Given the description of an element on the screen output the (x, y) to click on. 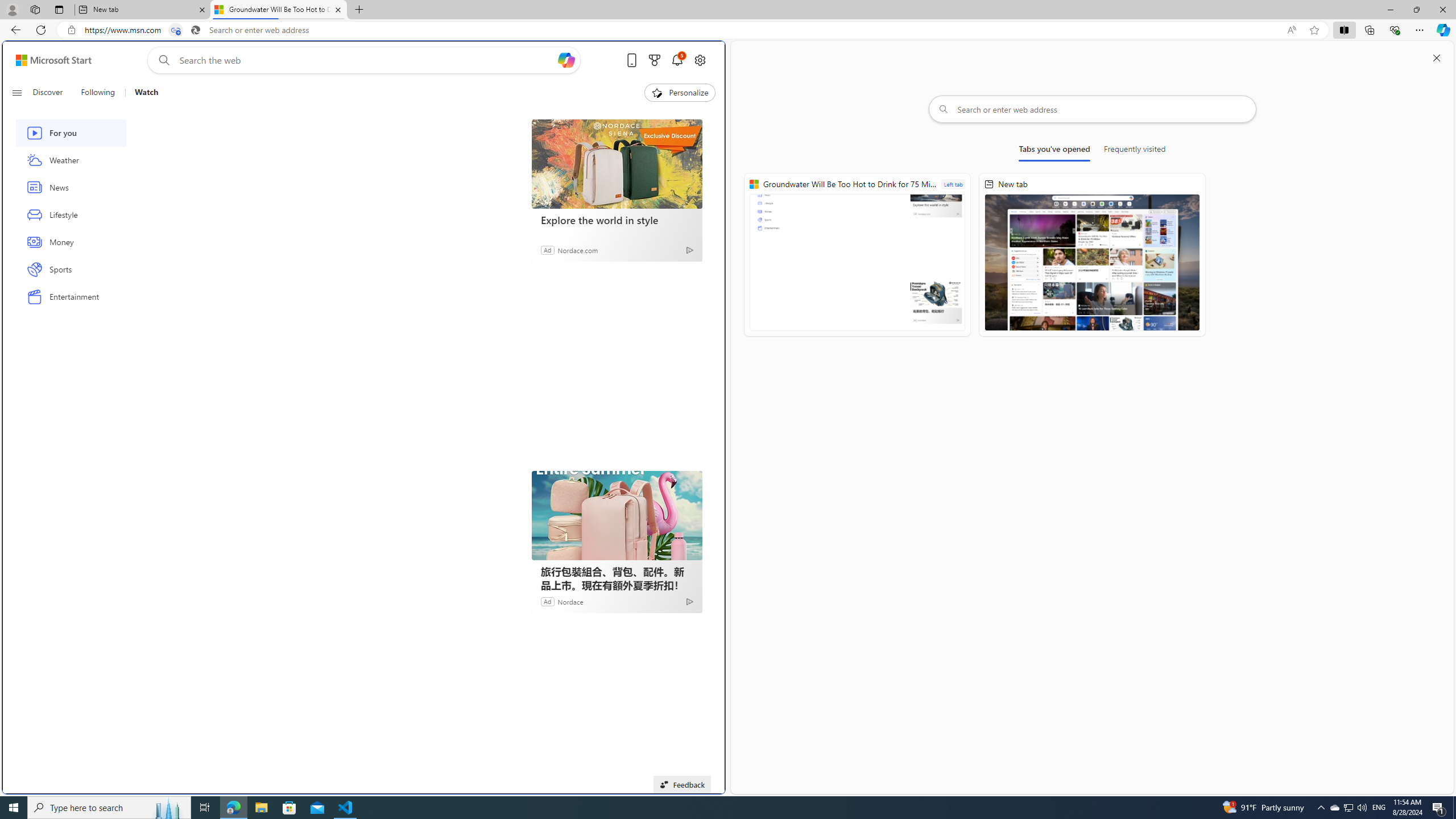
Enter your search term (366, 59)
Watch (145, 92)
Microsoft rewards (654, 60)
Copilot (Ctrl+Shift+.) (1442, 29)
Feedback (681, 784)
Open navigation menu (16, 92)
Skip to content (49, 59)
New Tab (358, 9)
Personal Profile (12, 9)
Close tab (338, 9)
Address and search bar (680, 29)
Frequently visited (1134, 151)
